Given the description of an element on the screen output the (x, y) to click on. 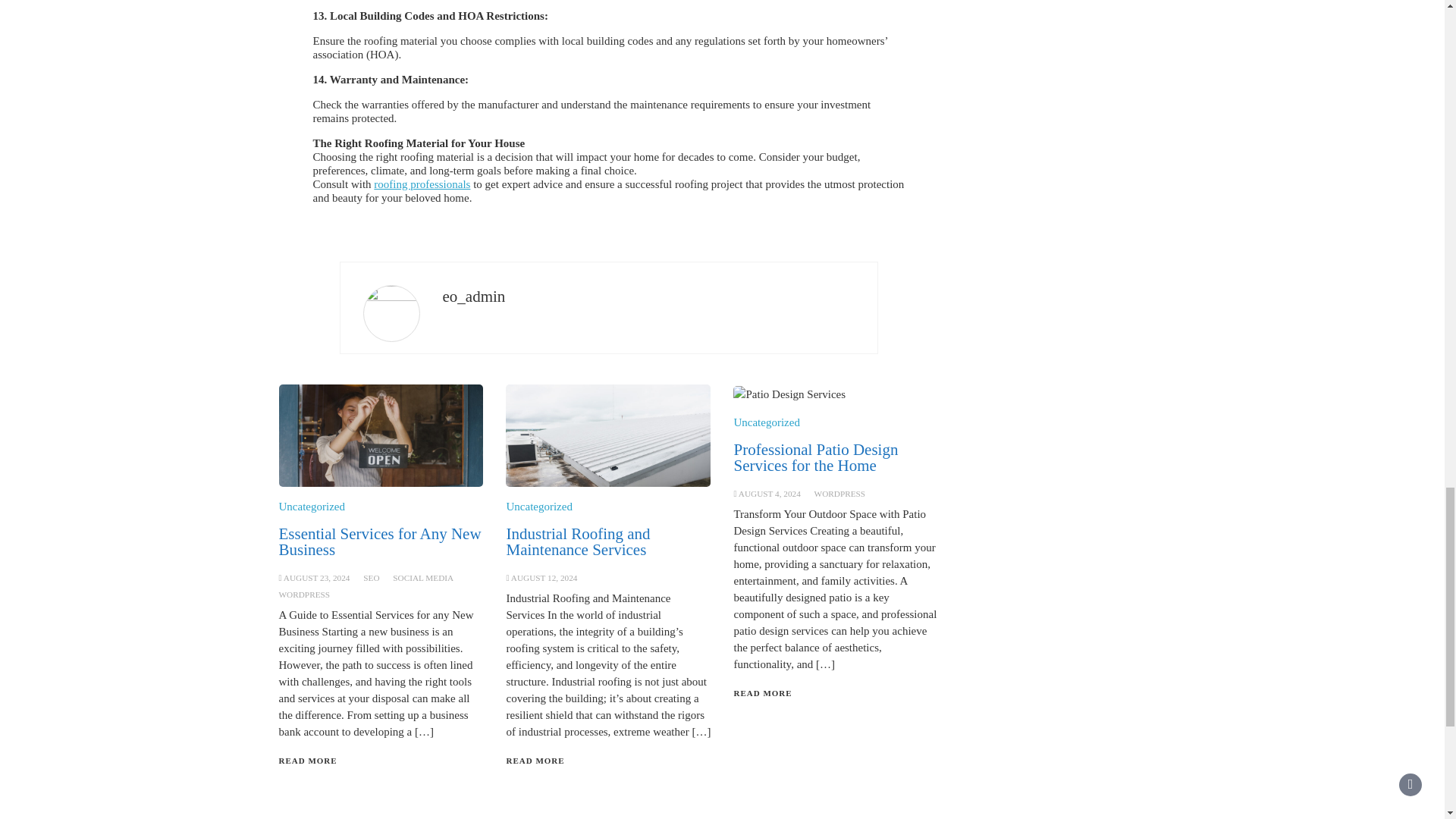
SEO (370, 577)
WORDPRESS (839, 492)
AUGUST 12, 2024 (544, 577)
READ MORE (534, 759)
AUGUST 23, 2024 (316, 577)
Industrial Roofing and Maintenance Services (577, 541)
READ MORE (308, 759)
Uncategorized (312, 506)
Professional Patio Design Services for the Home (815, 457)
Essential Services for Any New Business (380, 541)
